Given the description of an element on the screen output the (x, y) to click on. 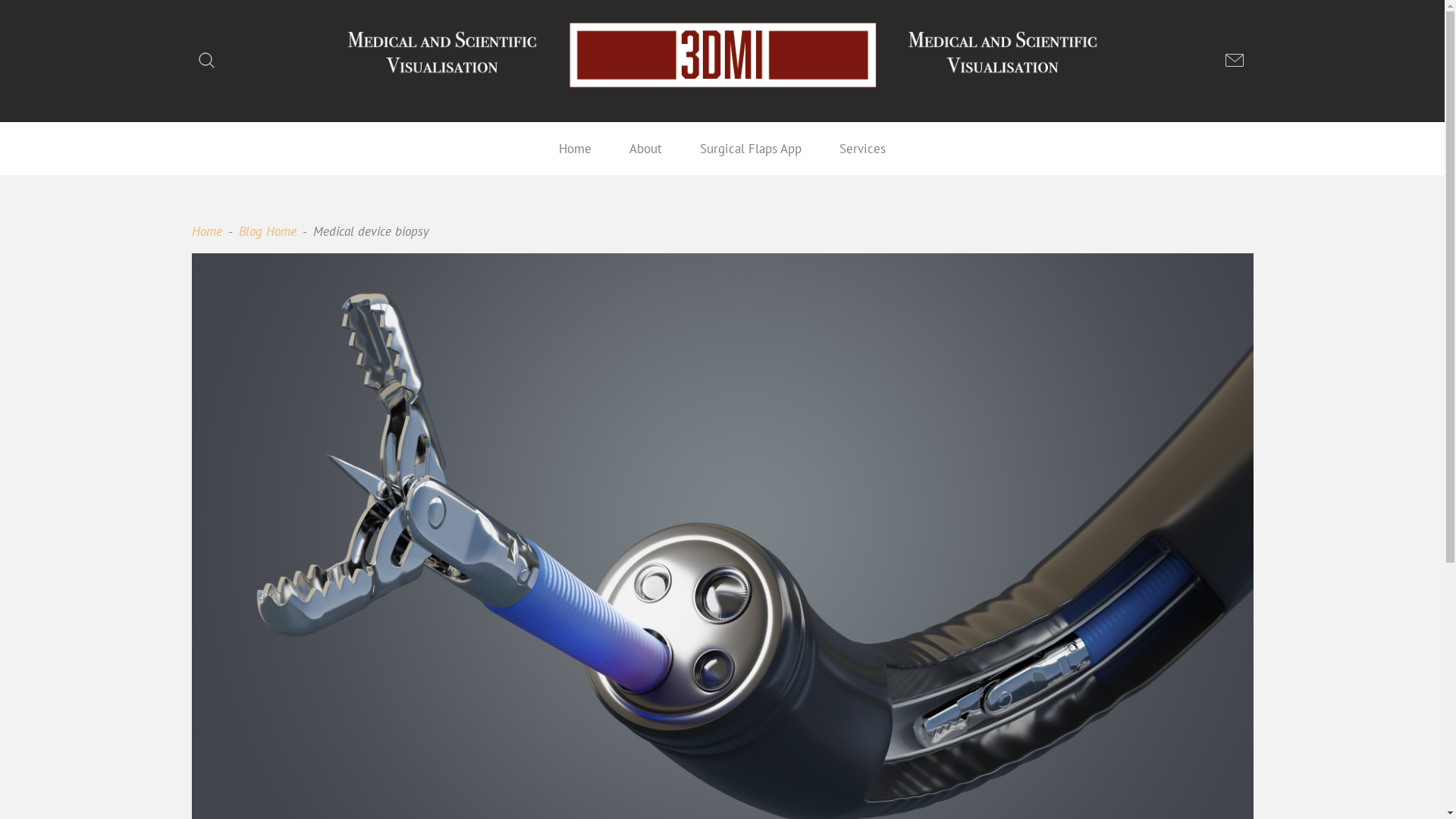
Blog Home Element type: text (266, 230)
Home Element type: text (206, 230)
Home Element type: text (574, 148)
About Element type: text (645, 148)
Surgical Flaps App Element type: text (750, 148)
Services Element type: text (862, 148)
